Given the description of an element on the screen output the (x, y) to click on. 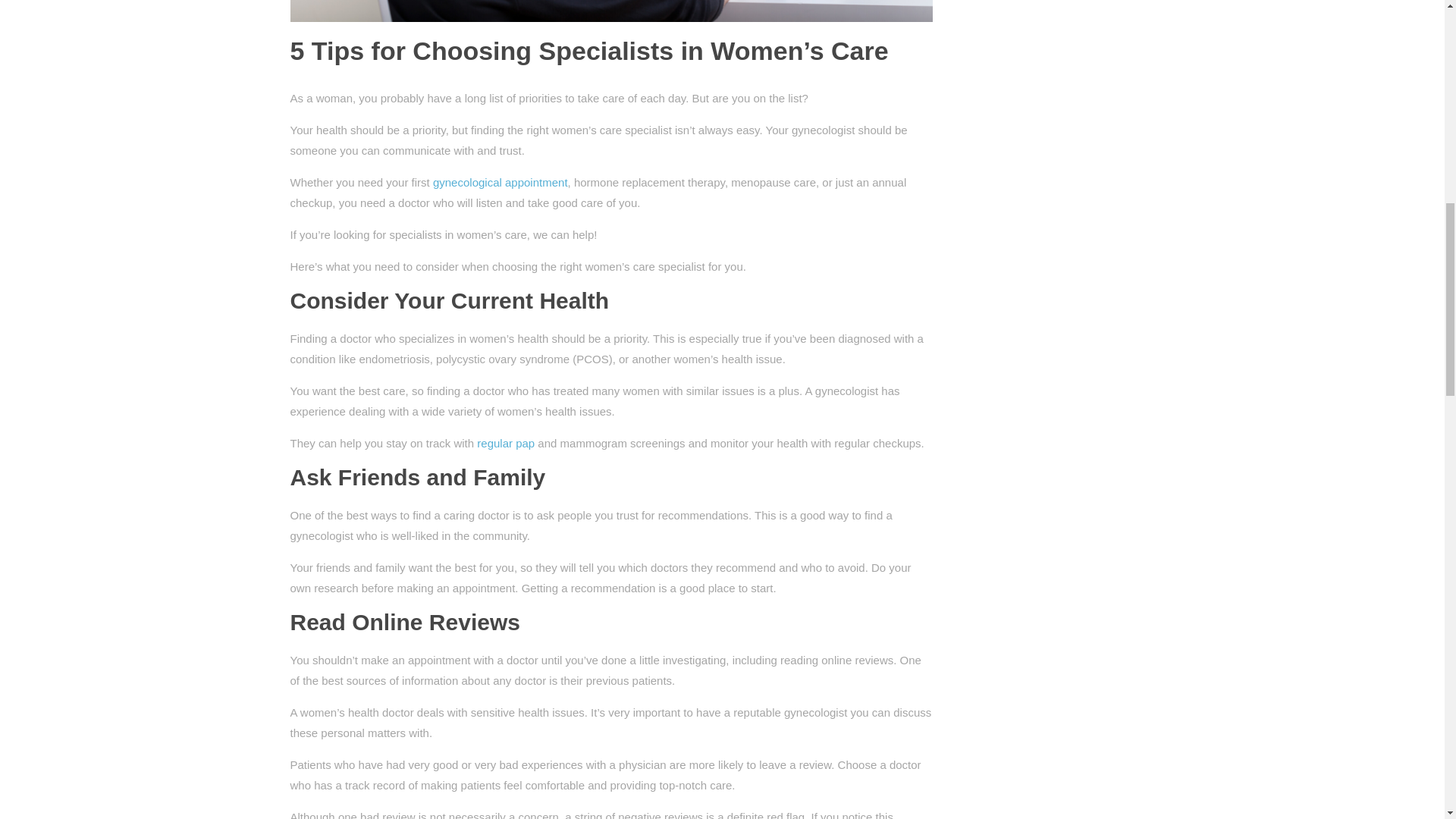
gynecological appointment (499, 182)
regular pap (505, 442)
